Given the description of an element on the screen output the (x, y) to click on. 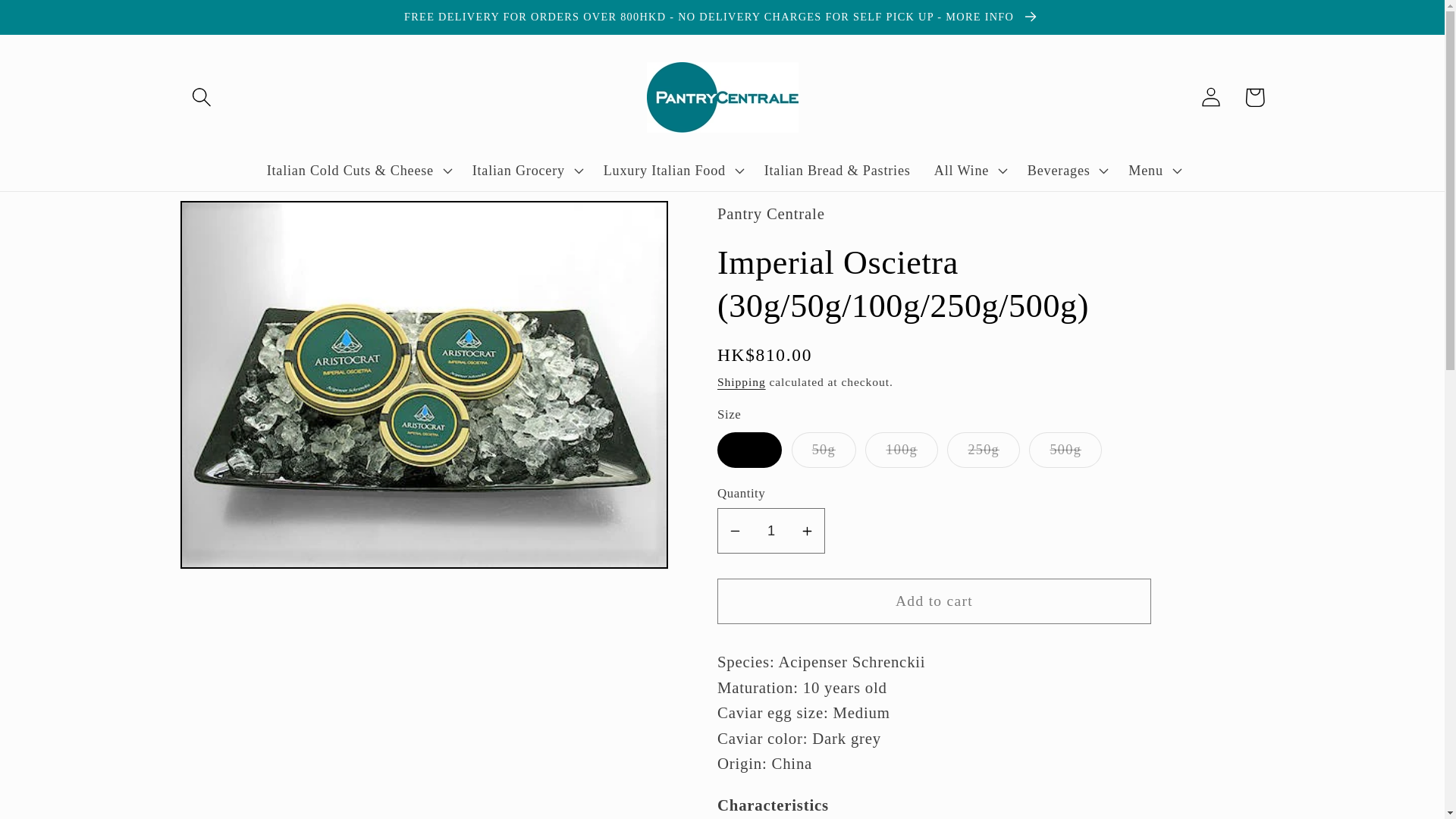
Skip to content (59, 22)
